Given the description of an element on the screen output the (x, y) to click on. 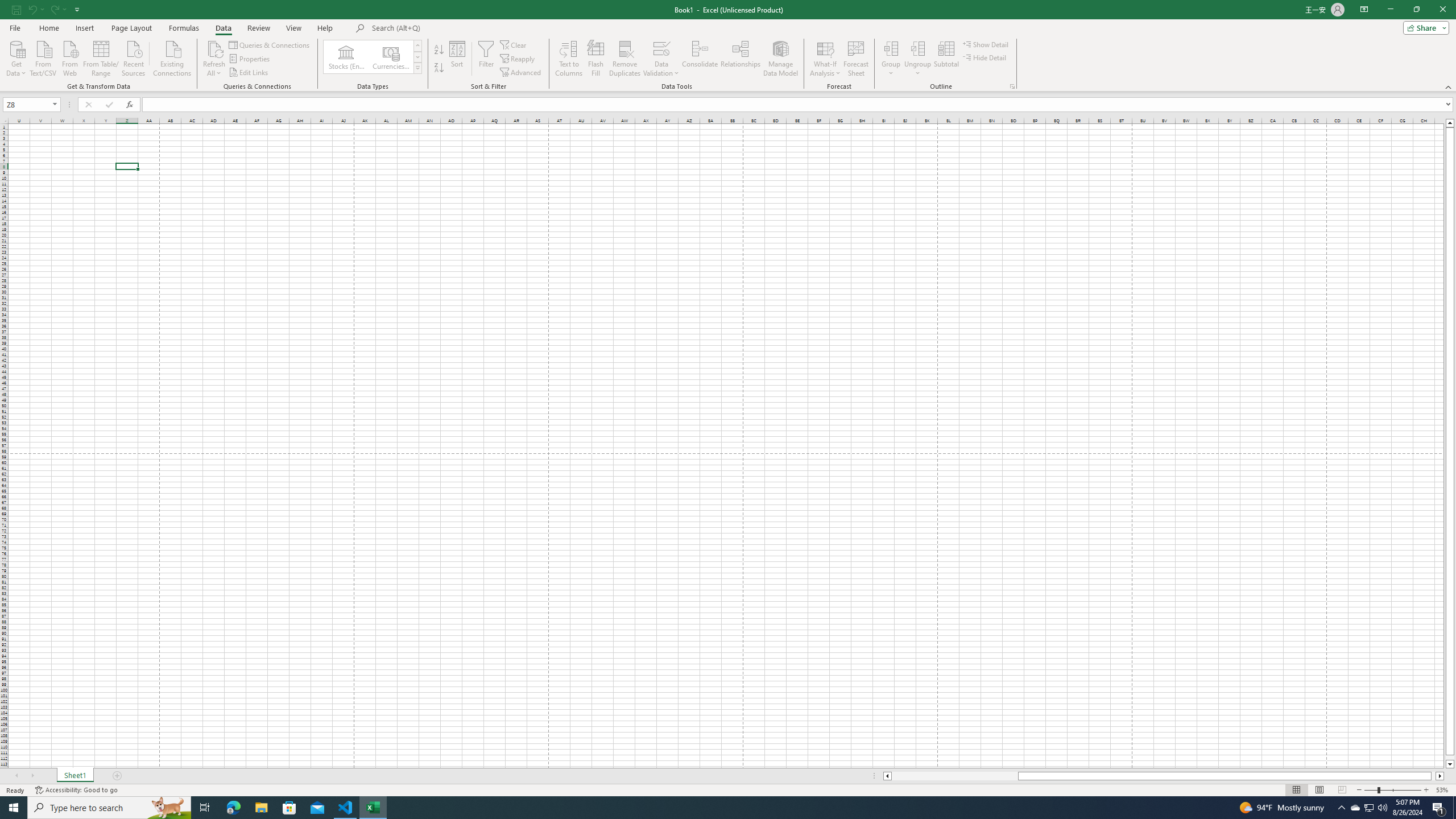
Text to Columns... (568, 58)
Edit Links (249, 72)
